Given the description of an element on the screen output the (x, y) to click on. 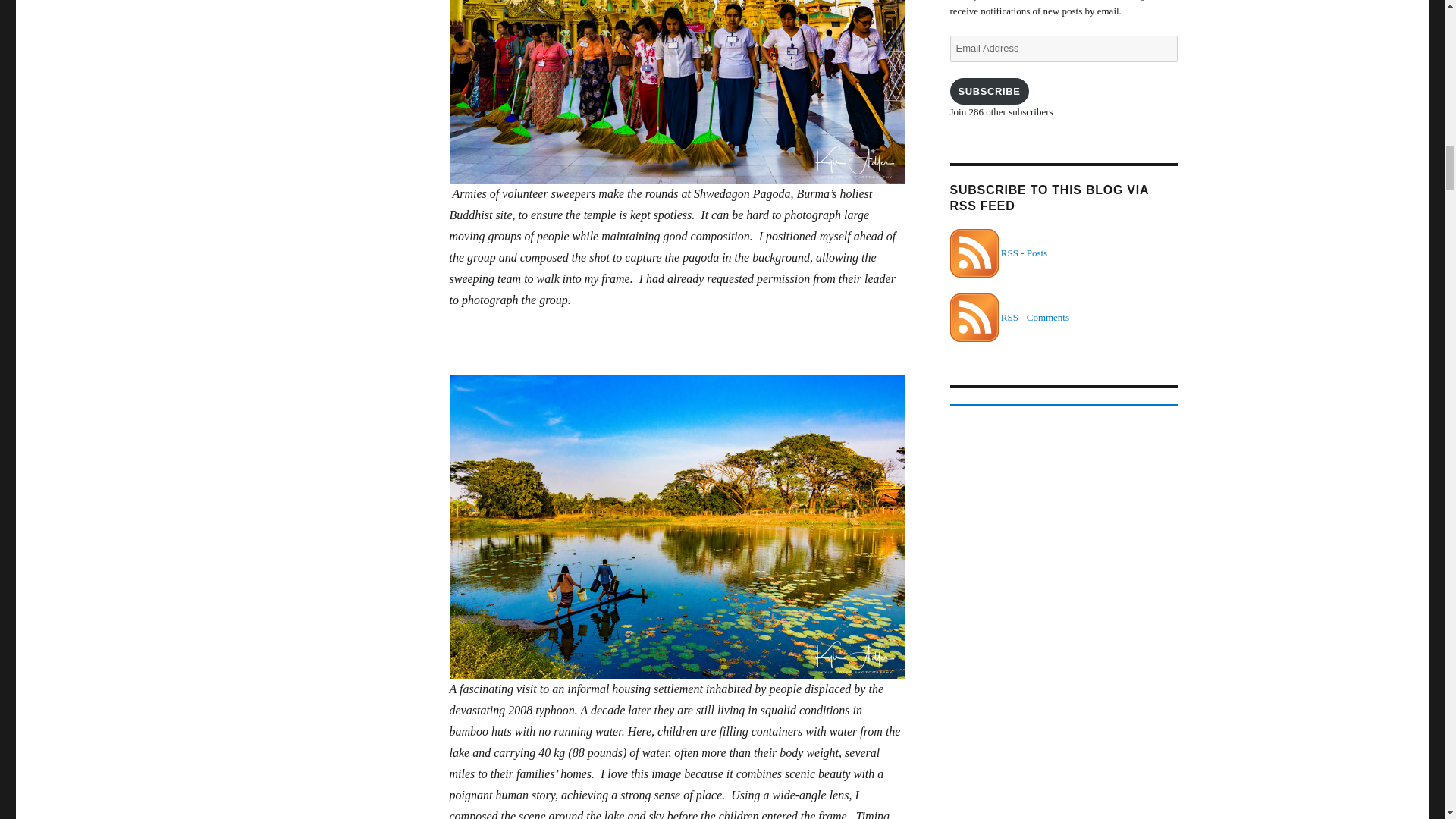
Subscribe to comments (1008, 317)
Subscribe to posts (997, 252)
